Given the description of an element on the screen output the (x, y) to click on. 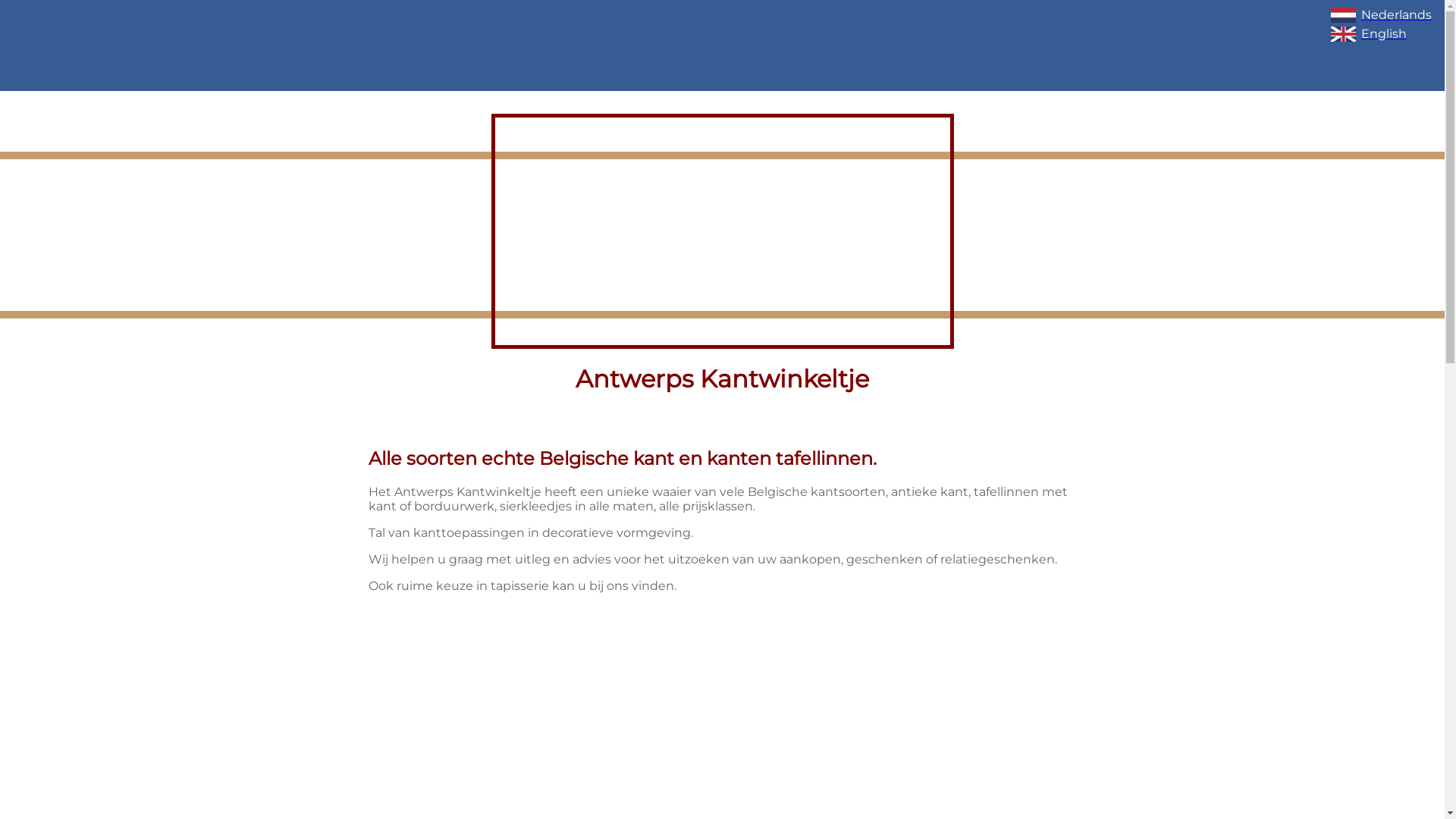
English Element type: text (1383, 33)
Nederlands Element type: text (1383, 14)
Antwerps Kantwinkeltje Element type: text (721, 45)
